Given the description of an element on the screen output the (x, y) to click on. 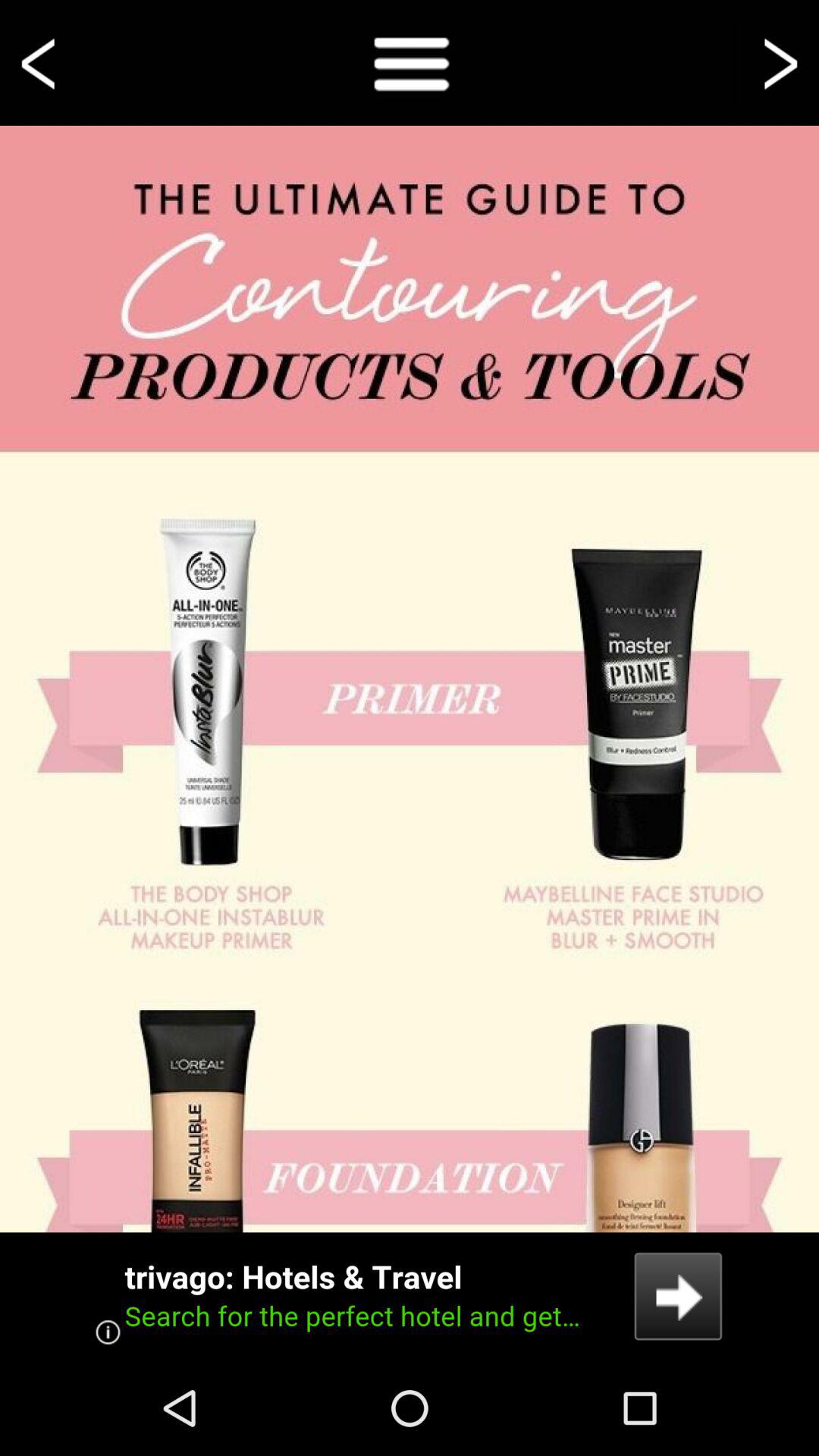
go next (778, 62)
